Given the description of an element on the screen output the (x, y) to click on. 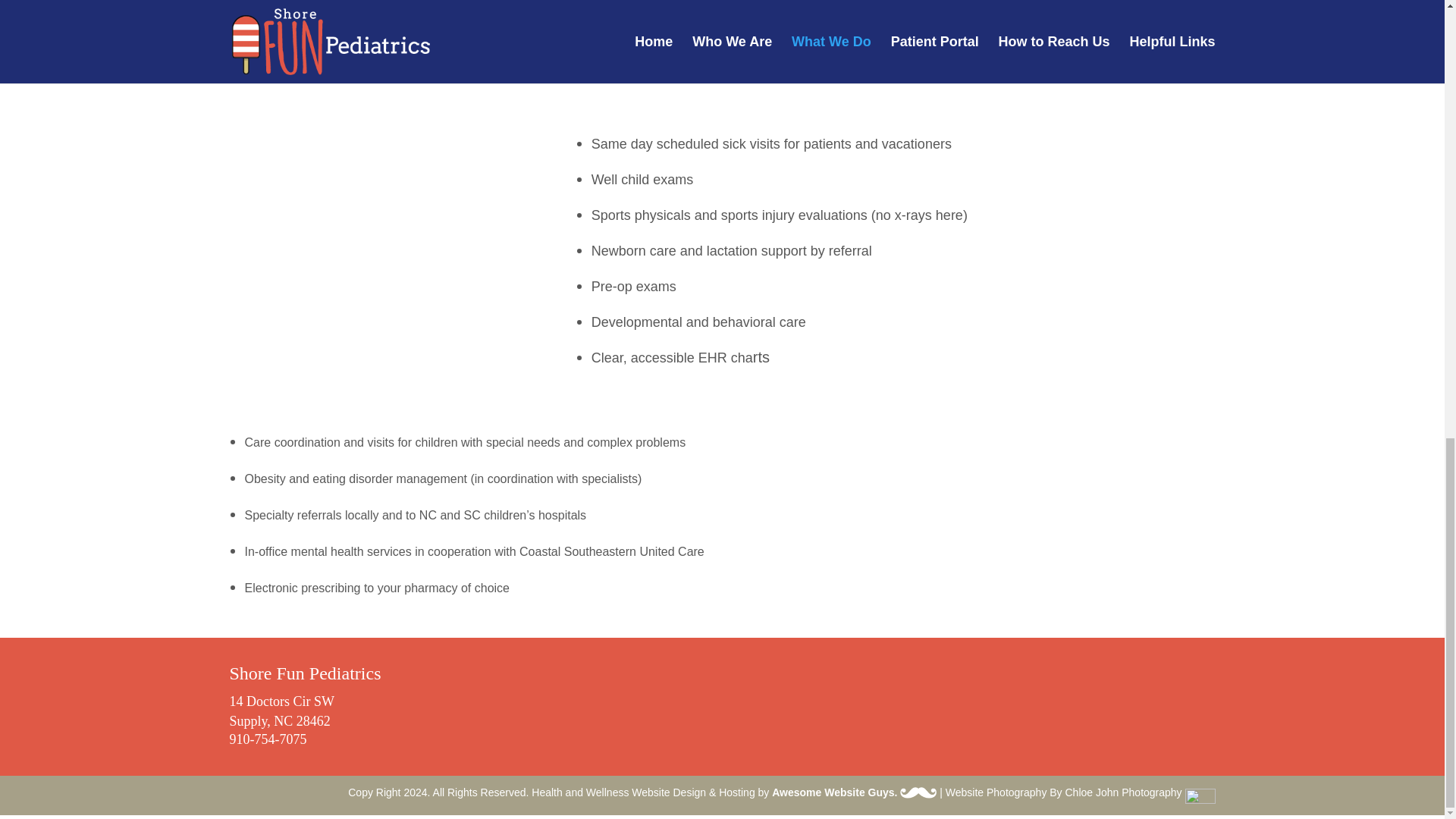
Website Photography By Chloe John Photography (1079, 792)
Awesome Website Guys. (853, 792)
Awesome Website Guys (917, 792)
Health and Wellness Website Design (618, 792)
